Given the description of an element on the screen output the (x, y) to click on. 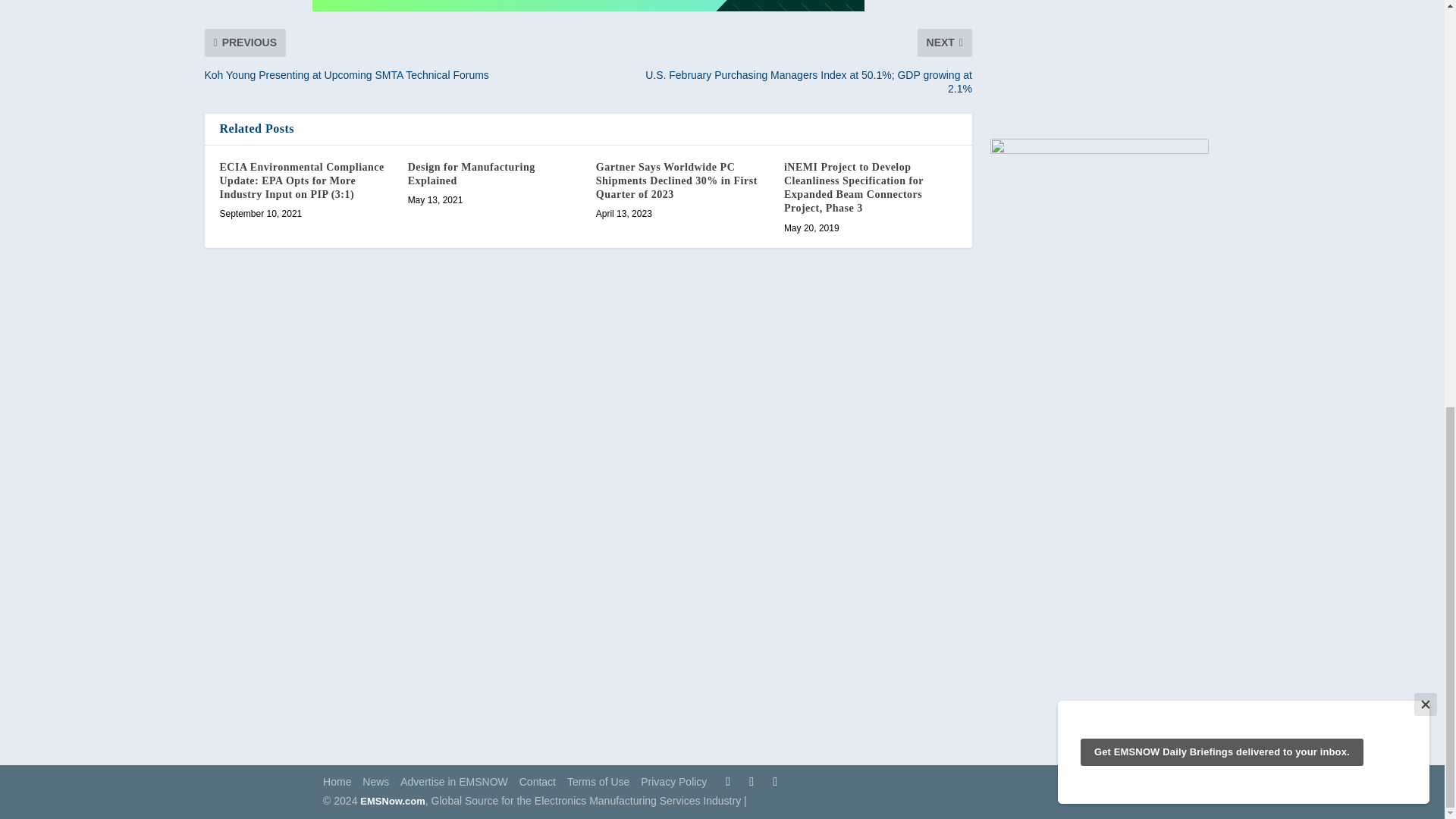
EMSNow.com (392, 800)
